Given the description of an element on the screen output the (x, y) to click on. 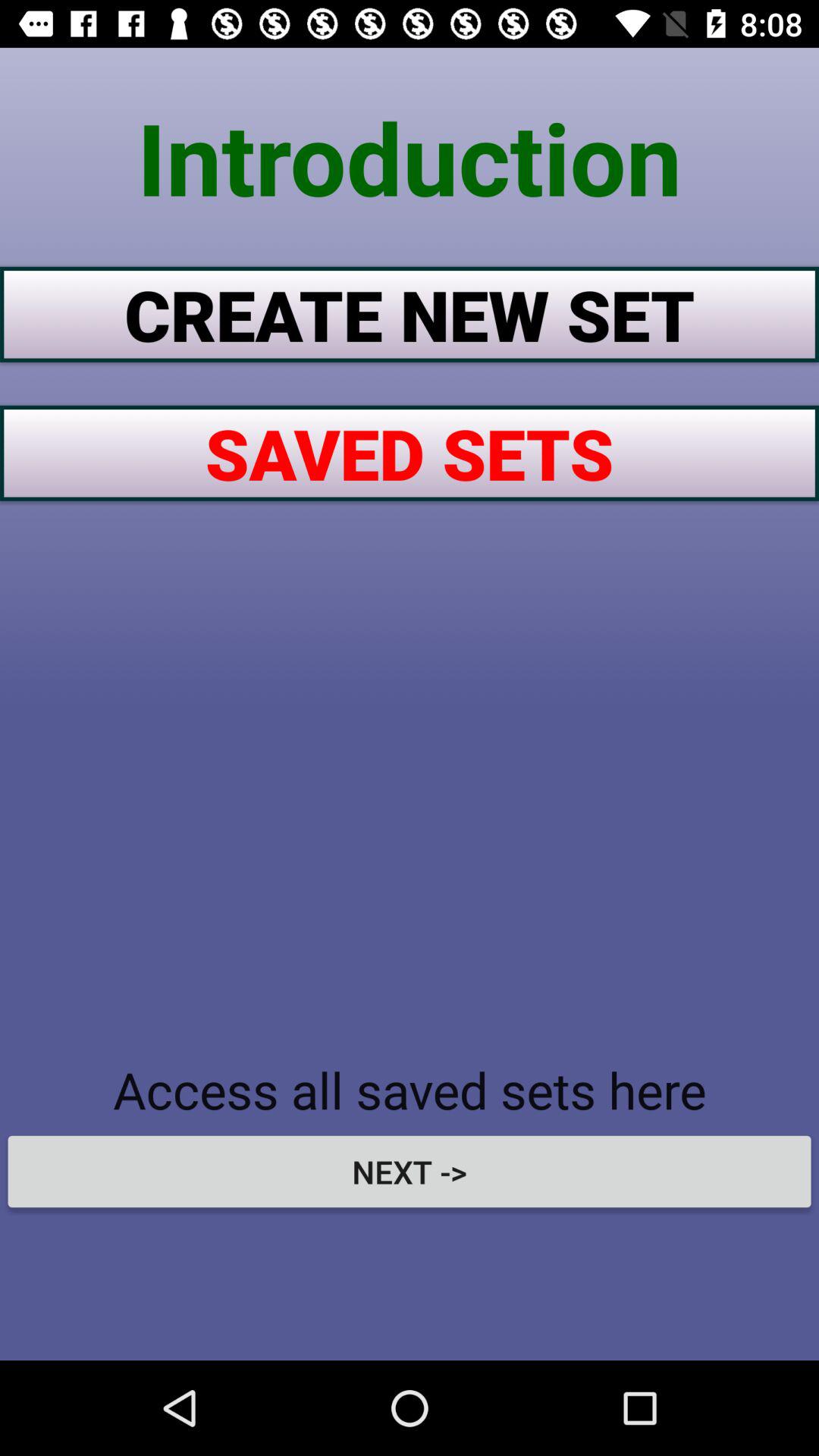
tap the create new set icon (409, 314)
